Given the description of an element on the screen output the (x, y) to click on. 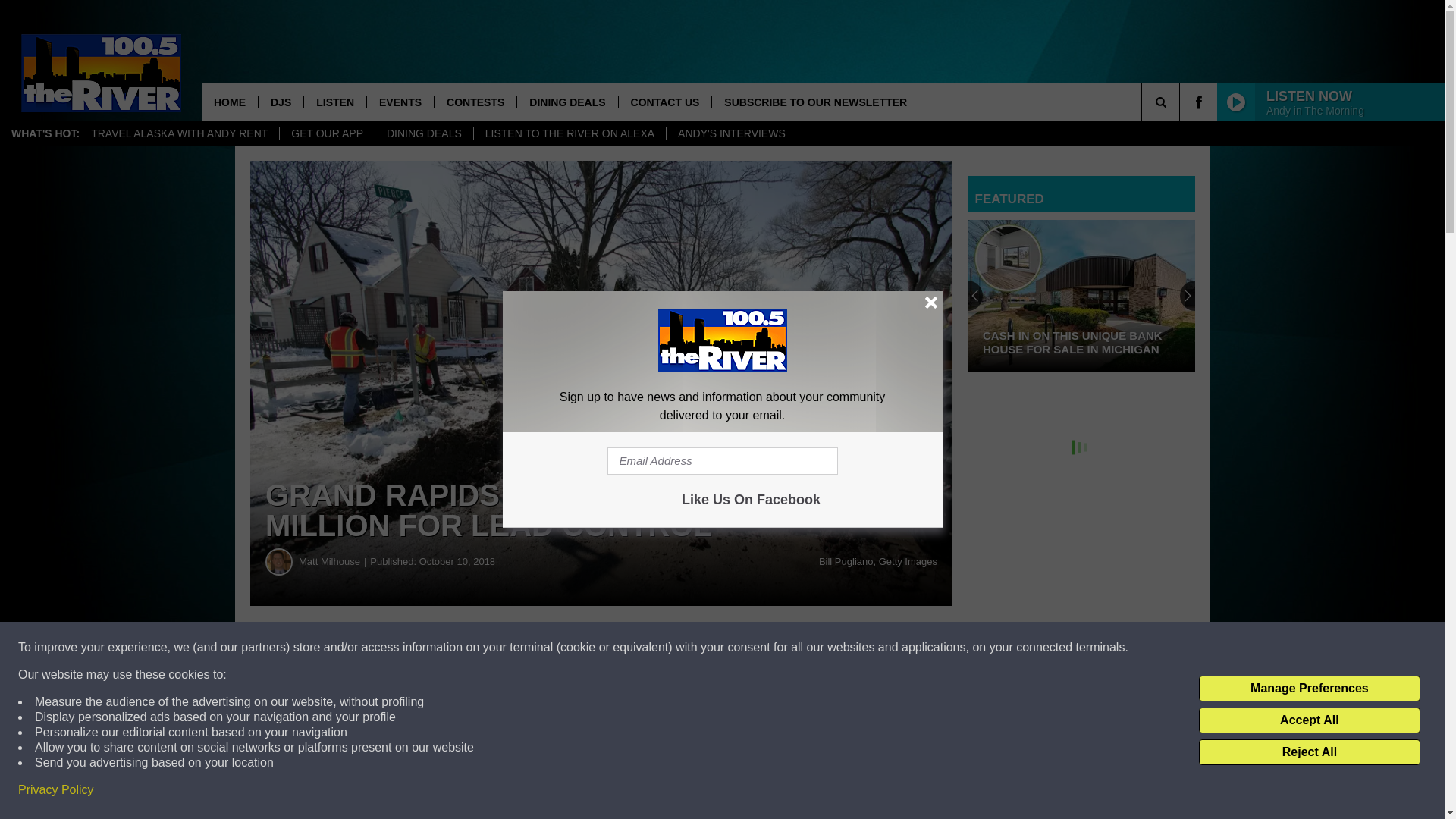
HOME (229, 102)
CONTACT US (664, 102)
Share on Twitter (741, 647)
TRAVEL ALASKA WITH ANDY RENT (179, 133)
ANDY'S INTERVIEWS (730, 133)
LISTEN TO THE RIVER ON ALEXA (569, 133)
Accept All (1309, 720)
DINING DEALS (423, 133)
SEARCH (1182, 102)
EVENTS (399, 102)
Reject All (1309, 751)
DINING DEALS (566, 102)
SUBSCRIBE TO OUR NEWSLETTER (814, 102)
LISTEN (334, 102)
CONTESTS (474, 102)
